Given the description of an element on the screen output the (x, y) to click on. 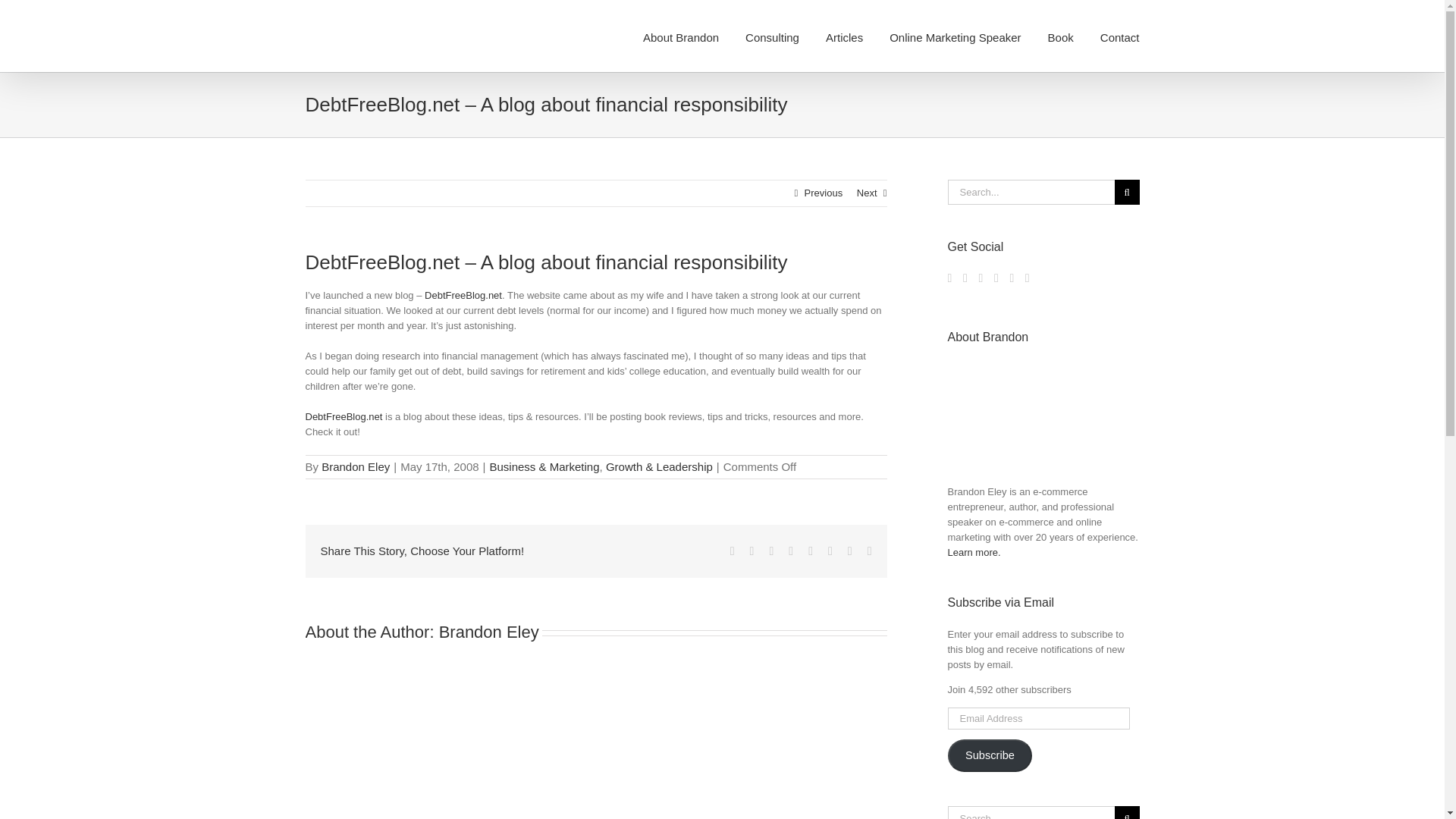
Online Marketing Speaker (954, 36)
Learn more. (974, 552)
Posts by Brandon Eley (488, 631)
DebtFreeBlog.net (463, 295)
Brandon Eley (488, 631)
Posts by Brandon Eley (355, 466)
Brandon Eley (355, 466)
Previous (824, 193)
DebtFreeBlog.net (342, 416)
Subscribe (989, 756)
